Given the description of an element on the screen output the (x, y) to click on. 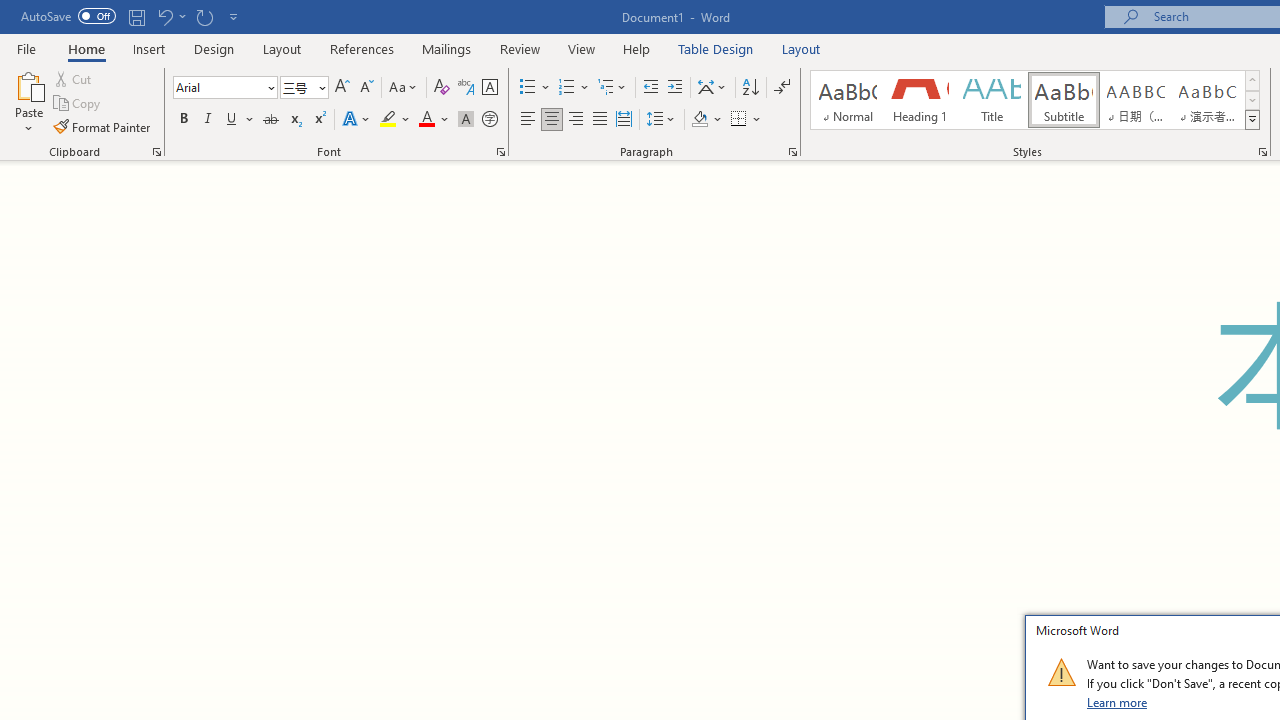
Distributed (623, 119)
Sort... (750, 87)
Align Left (527, 119)
Table Design (715, 48)
Open (320, 87)
Mailings (447, 48)
Insert (149, 48)
Layout (801, 48)
Show/Hide Editing Marks (781, 87)
Change Case (404, 87)
Undo Paste (164, 15)
